Given the description of an element on the screen output the (x, y) to click on. 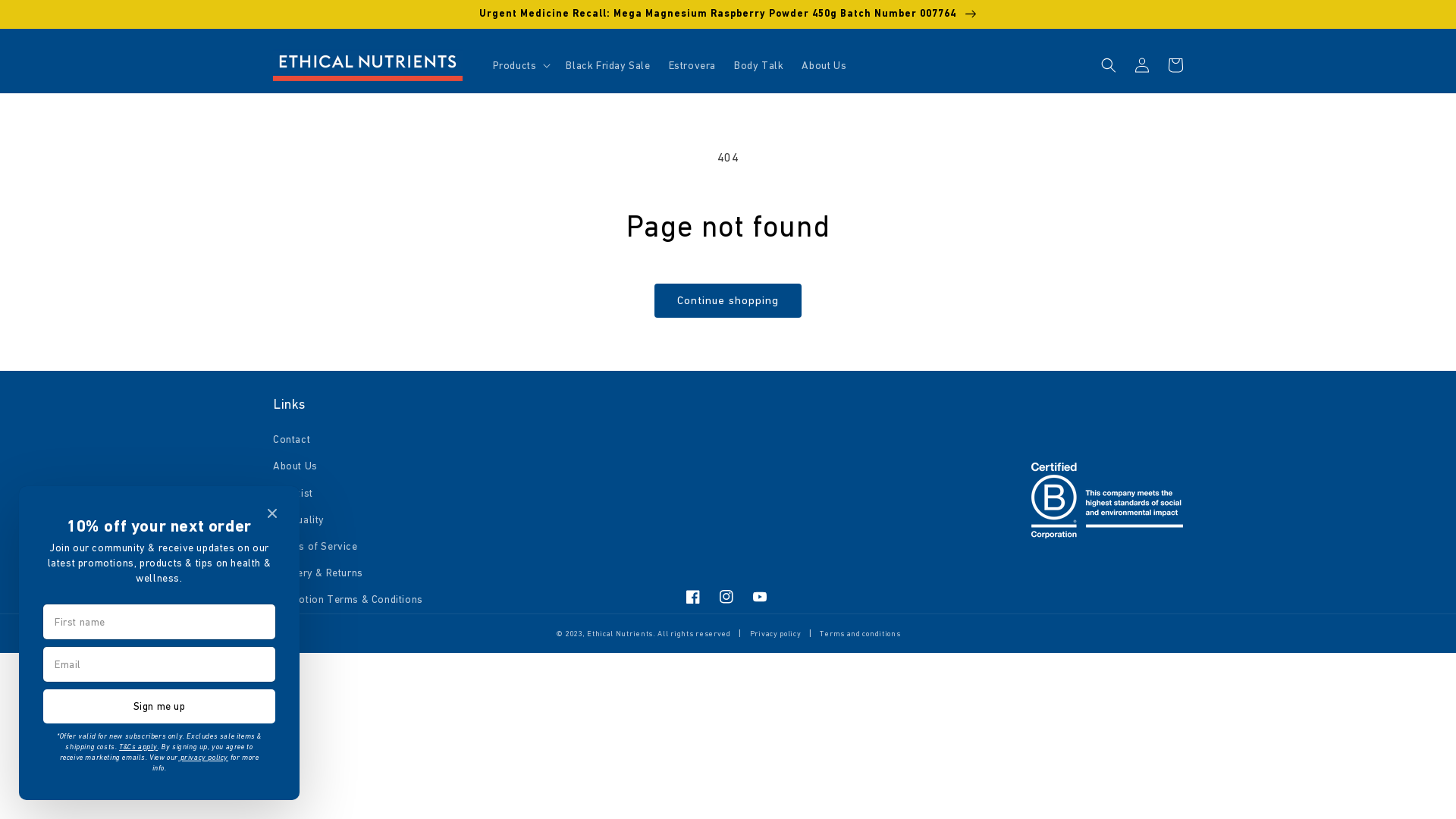
Promotion Terms & Conditions Element type: text (348, 599)
Instagram Element type: text (726, 595)
Terms of Service Element type: text (315, 546)
Cart Element type: text (1175, 64)
YouTube Element type: text (759, 595)
Stockist Element type: text (293, 493)
Continue shopping Element type: text (727, 300)
Ethical Nutrients Element type: text (619, 633)
Body Talk Element type: text (758, 65)
Privacy policy Element type: text (775, 633)
About Us Element type: text (823, 65)
Contact Element type: text (291, 440)
Log in Element type: text (1141, 64)
Estrovera Element type: text (691, 65)
About Us Element type: text (295, 465)
Facebook Element type: text (692, 595)
Terms and conditions Element type: text (859, 633)
Black Friday Sale Element type: text (607, 65)
Delivery & Returns Element type: text (318, 572)
TruQuality Element type: text (298, 519)
